Given the description of an element on the screen output the (x, y) to click on. 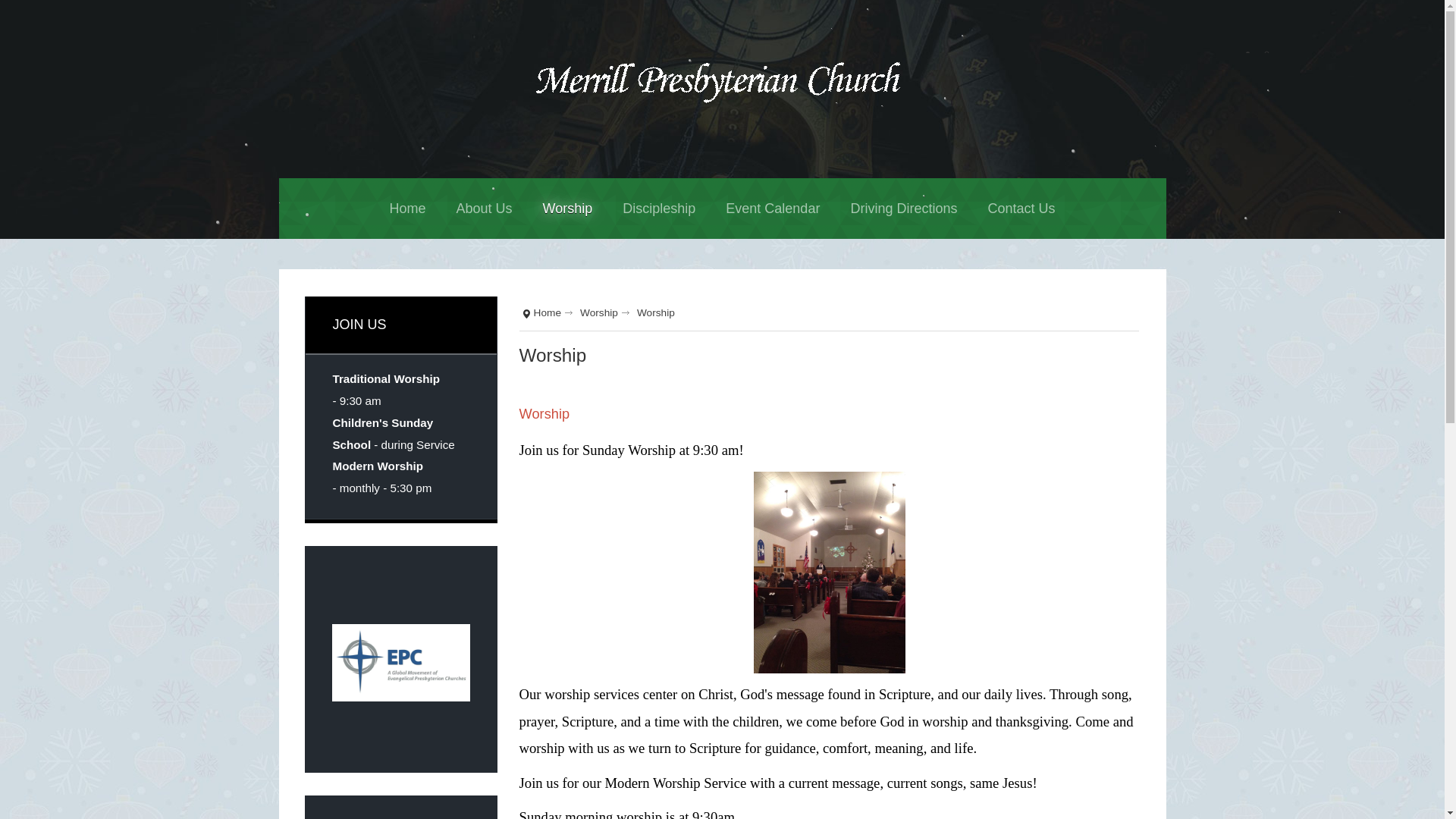
Home (407, 208)
Discipleship (658, 208)
Worship (544, 413)
Driving Directions (903, 208)
About Us (484, 208)
Worship (603, 313)
You are here:  (524, 312)
Contact Us (1021, 208)
Event Calendar (772, 208)
Worship (567, 208)
Home (553, 313)
